Given the description of an element on the screen output the (x, y) to click on. 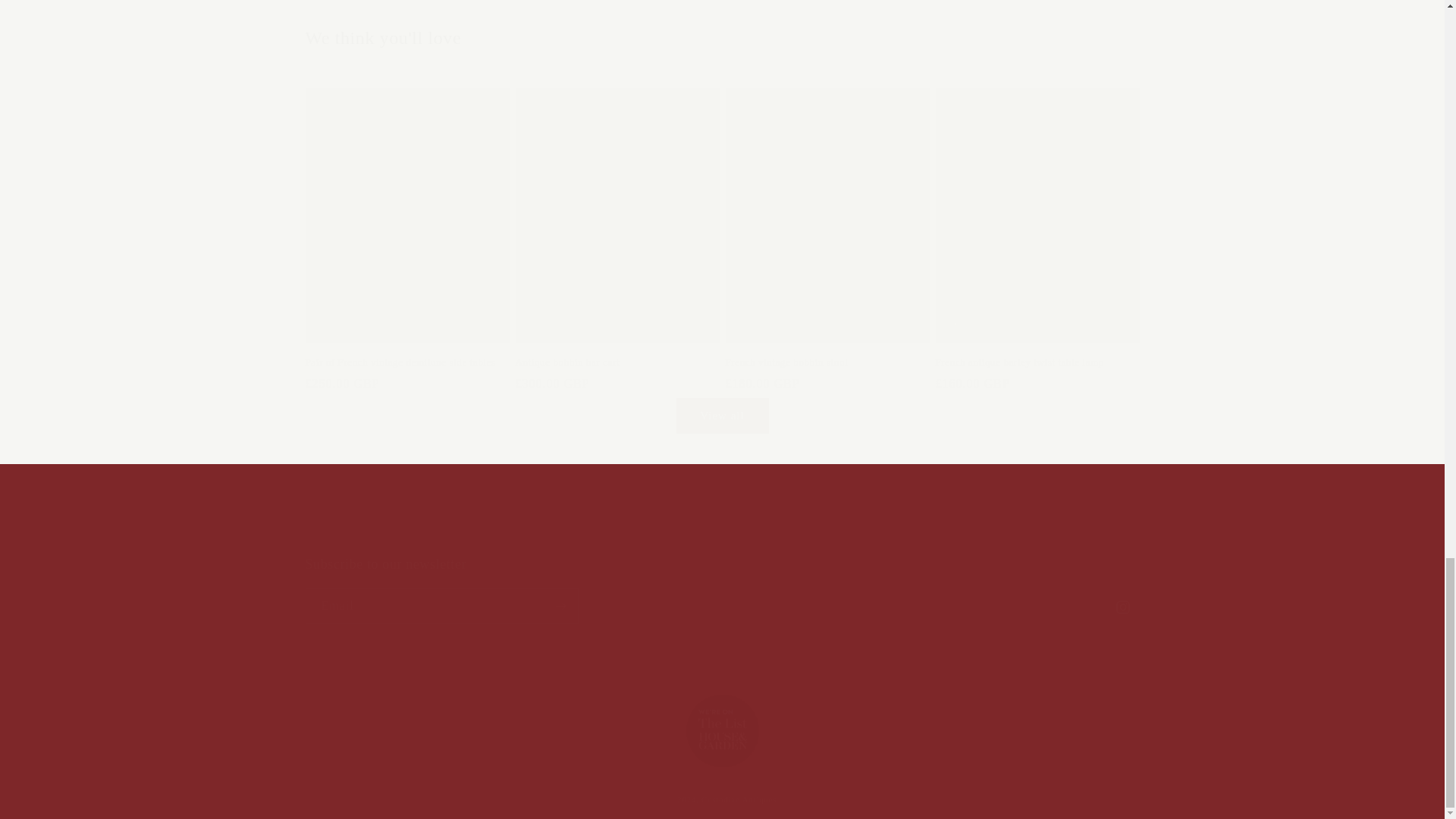
We think you'll love (721, 37)
Contact Trade Press Shipping Returns Terms Privacy (721, 519)
Contact Trade Press Shipping Returns Terms Privacy (721, 534)
